Given the description of an element on the screen output the (x, y) to click on. 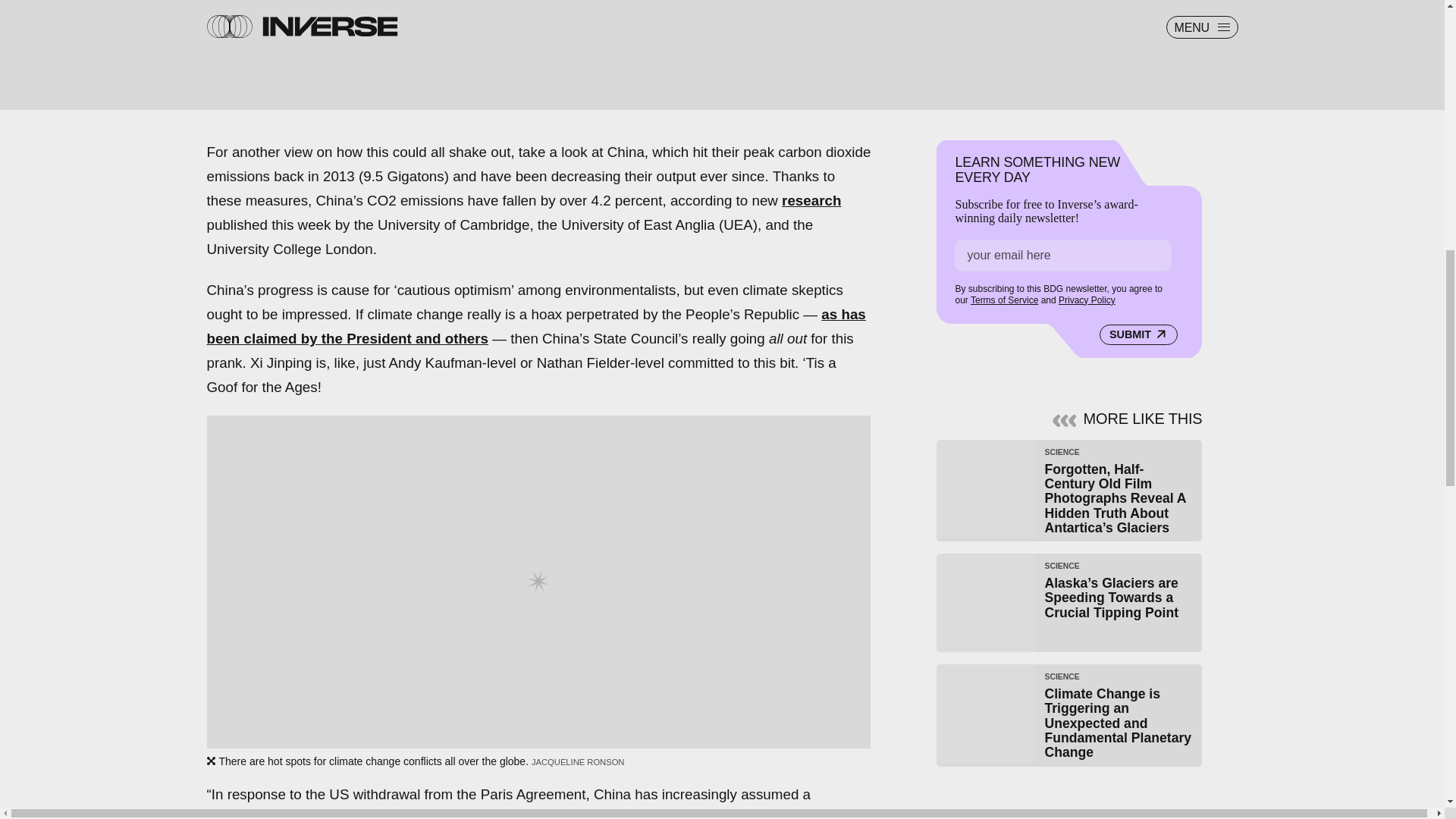
SUBMIT (1138, 334)
research (811, 200)
Terms of Service (1004, 299)
Privacy Policy (1086, 299)
Dabo Guan (572, 814)
as has been claimed by the President and others (535, 326)
